Given the description of an element on the screen output the (x, y) to click on. 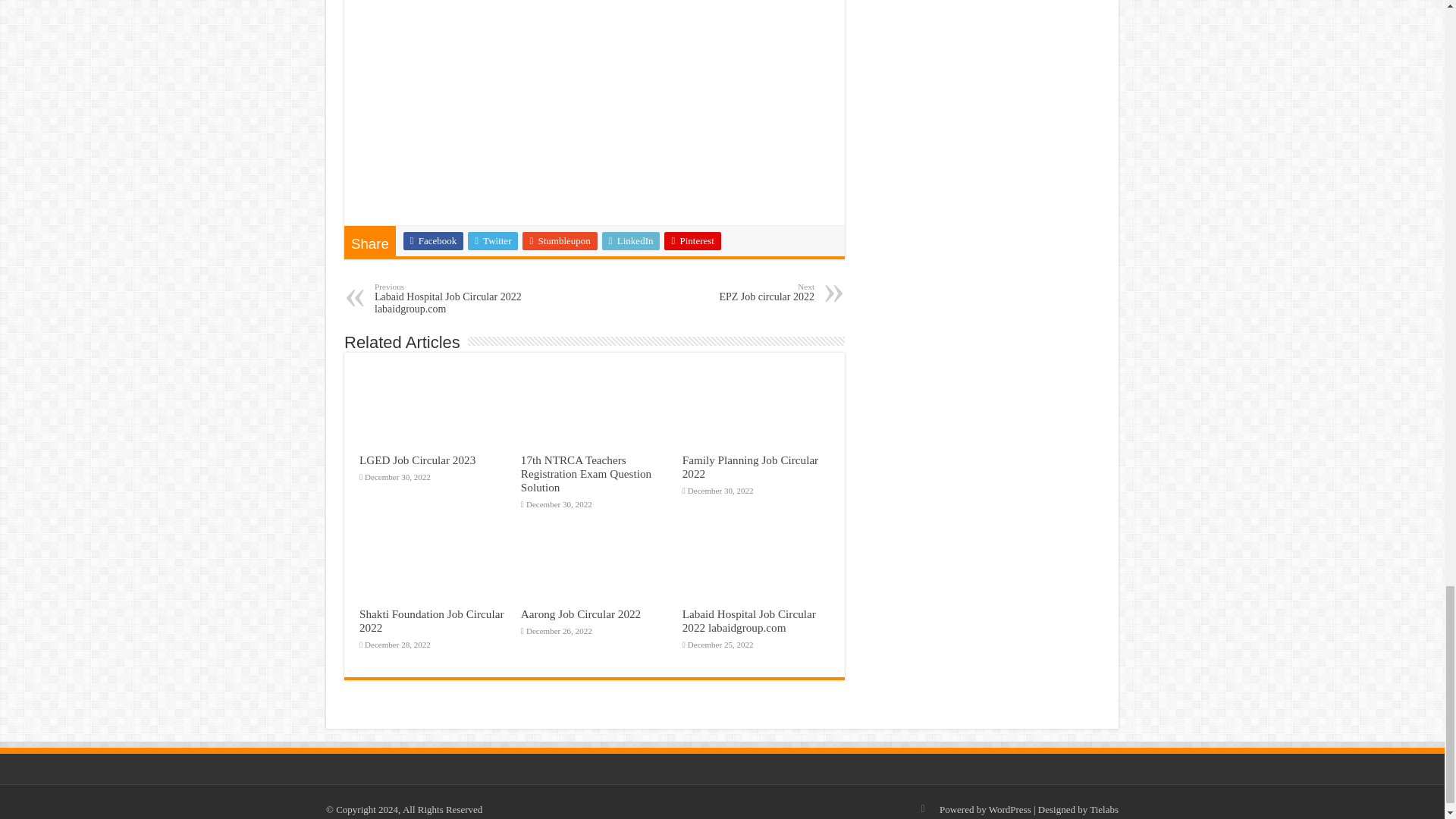
Pinterest (691, 240)
LinkedIn (631, 240)
Facebook (736, 291)
Twitter (433, 240)
LGED Job Circular 2023 (492, 240)
Stumbleupon (451, 297)
